Given the description of an element on the screen output the (x, y) to click on. 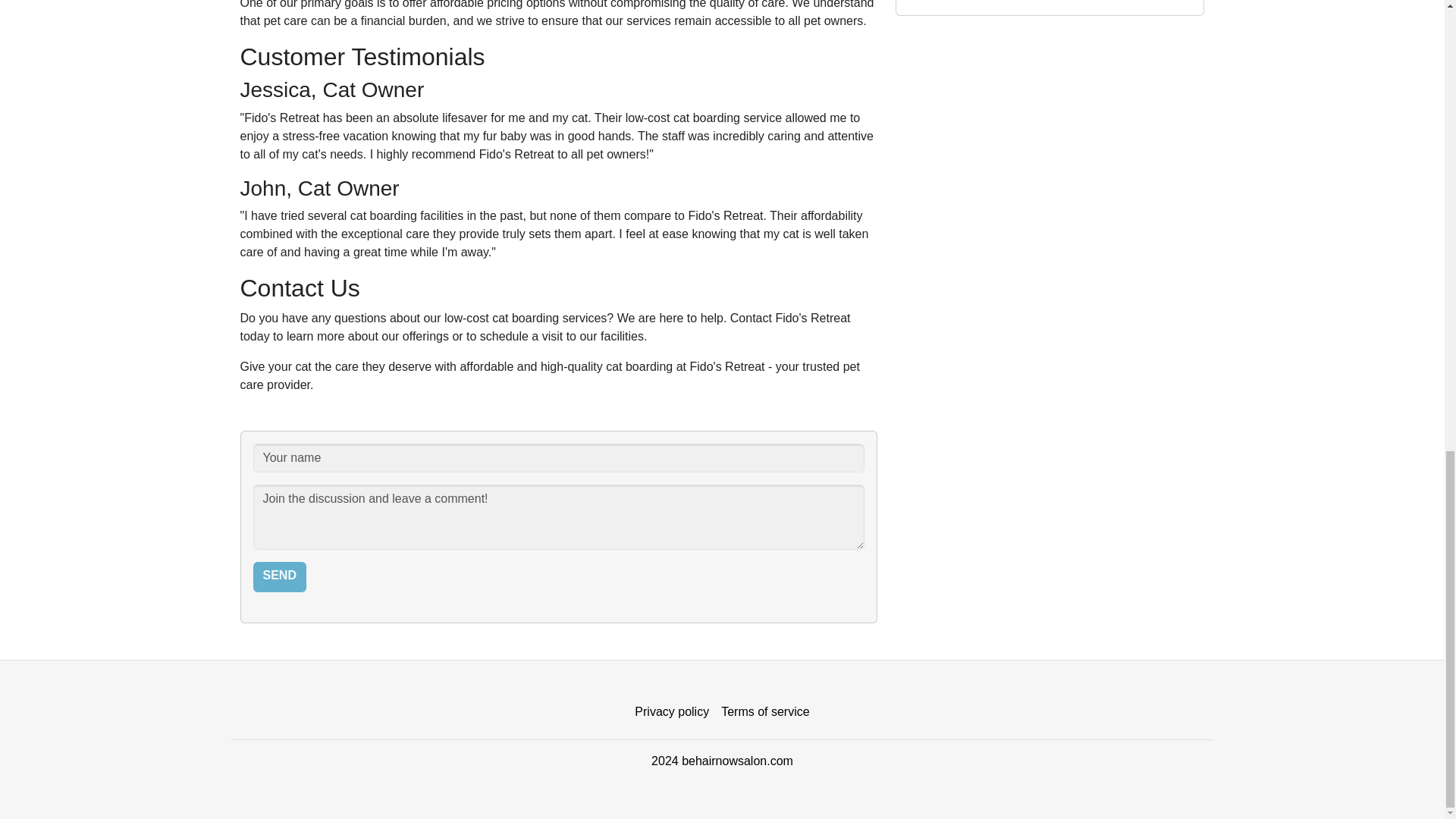
Privacy policy (671, 711)
Send (279, 576)
Terms of service (764, 711)
Send (279, 576)
